Given the description of an element on the screen output the (x, y) to click on. 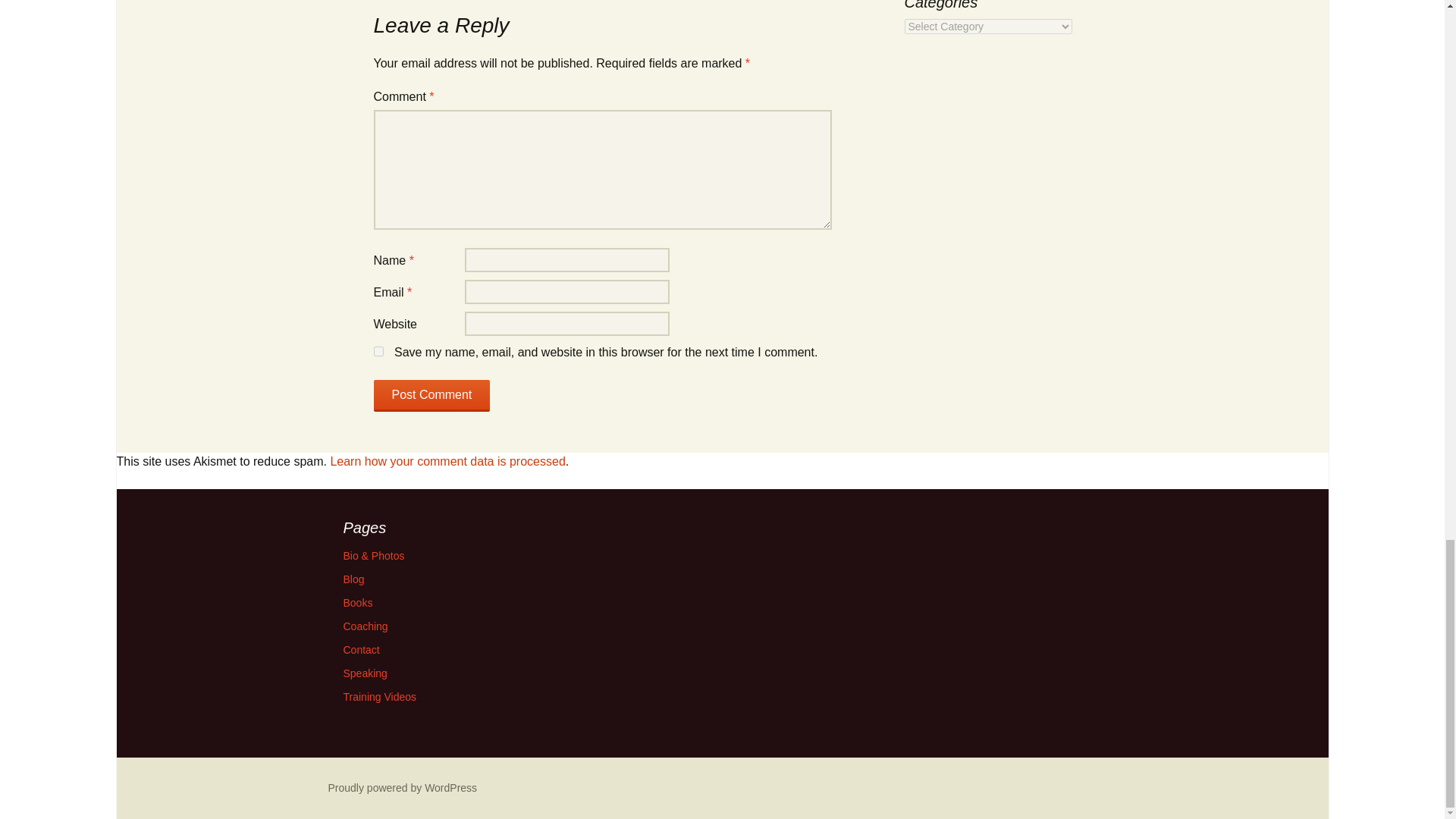
yes (377, 351)
Post Comment (430, 395)
Post Comment (430, 395)
